Given the description of an element on the screen output the (x, y) to click on. 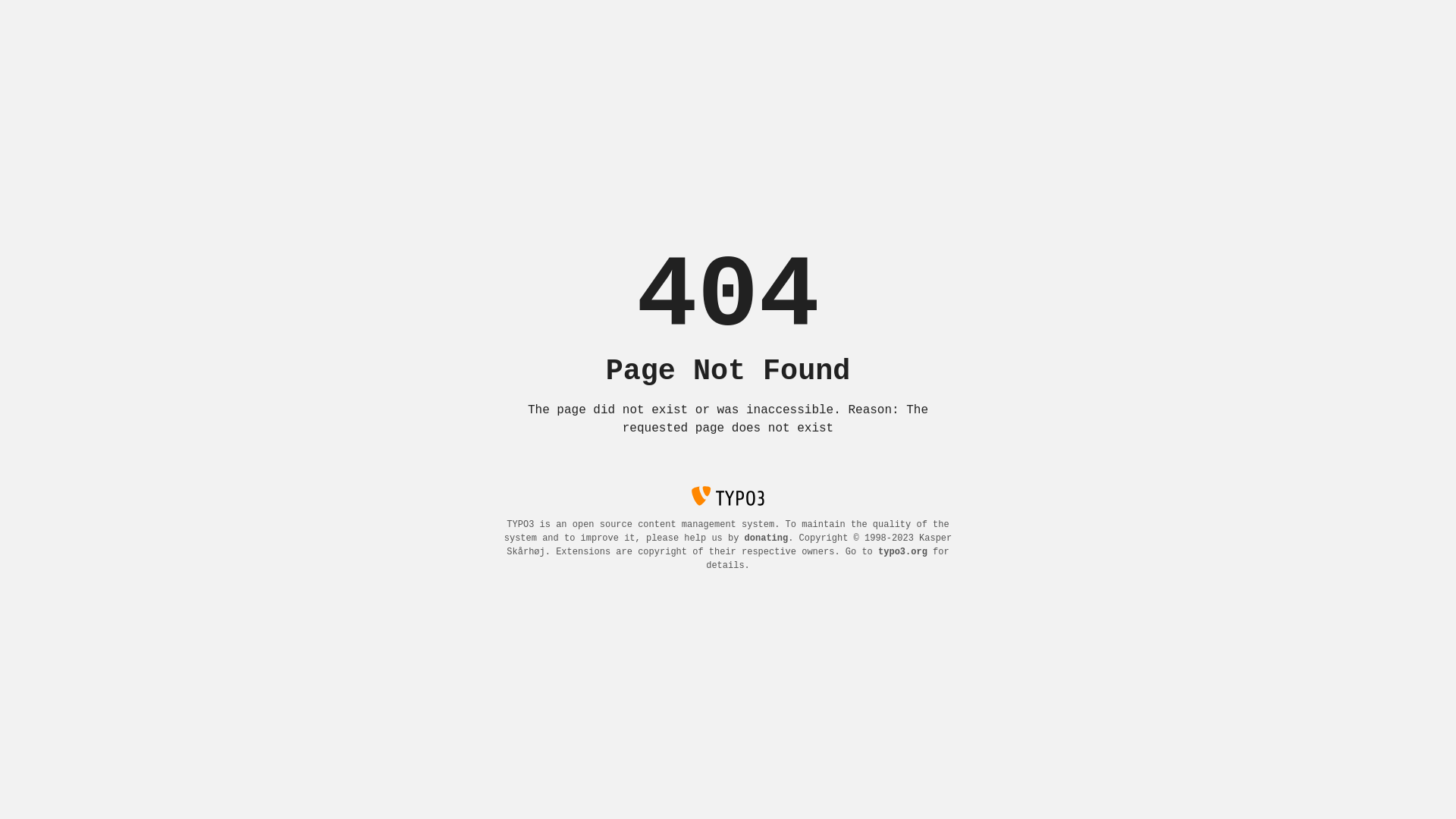
donating Element type: text (766, 538)
typo3.org Element type: text (902, 551)
